Given the description of an element on the screen output the (x, y) to click on. 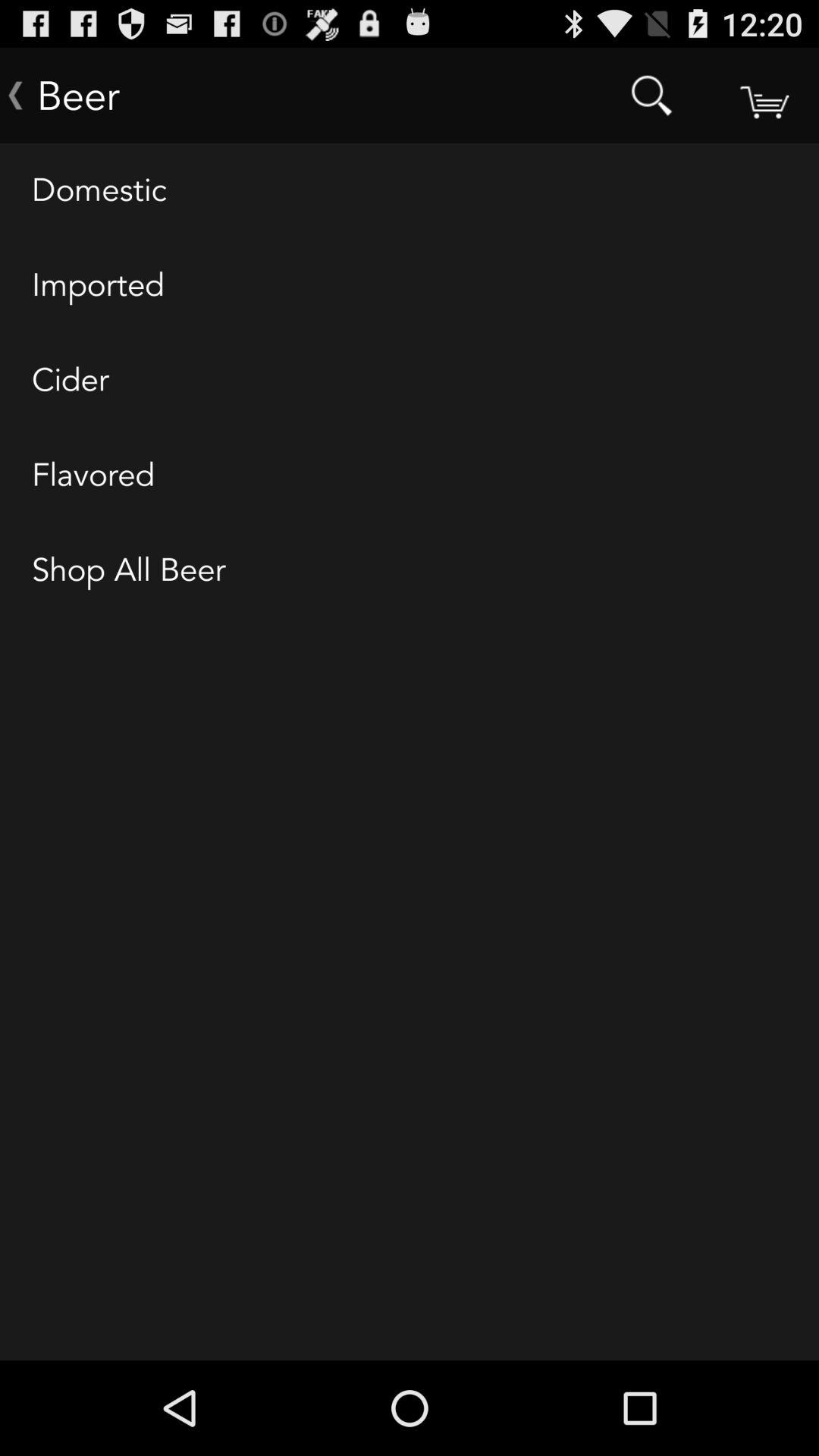
choose item next to the beer item (651, 95)
